Given the description of an element on the screen output the (x, y) to click on. 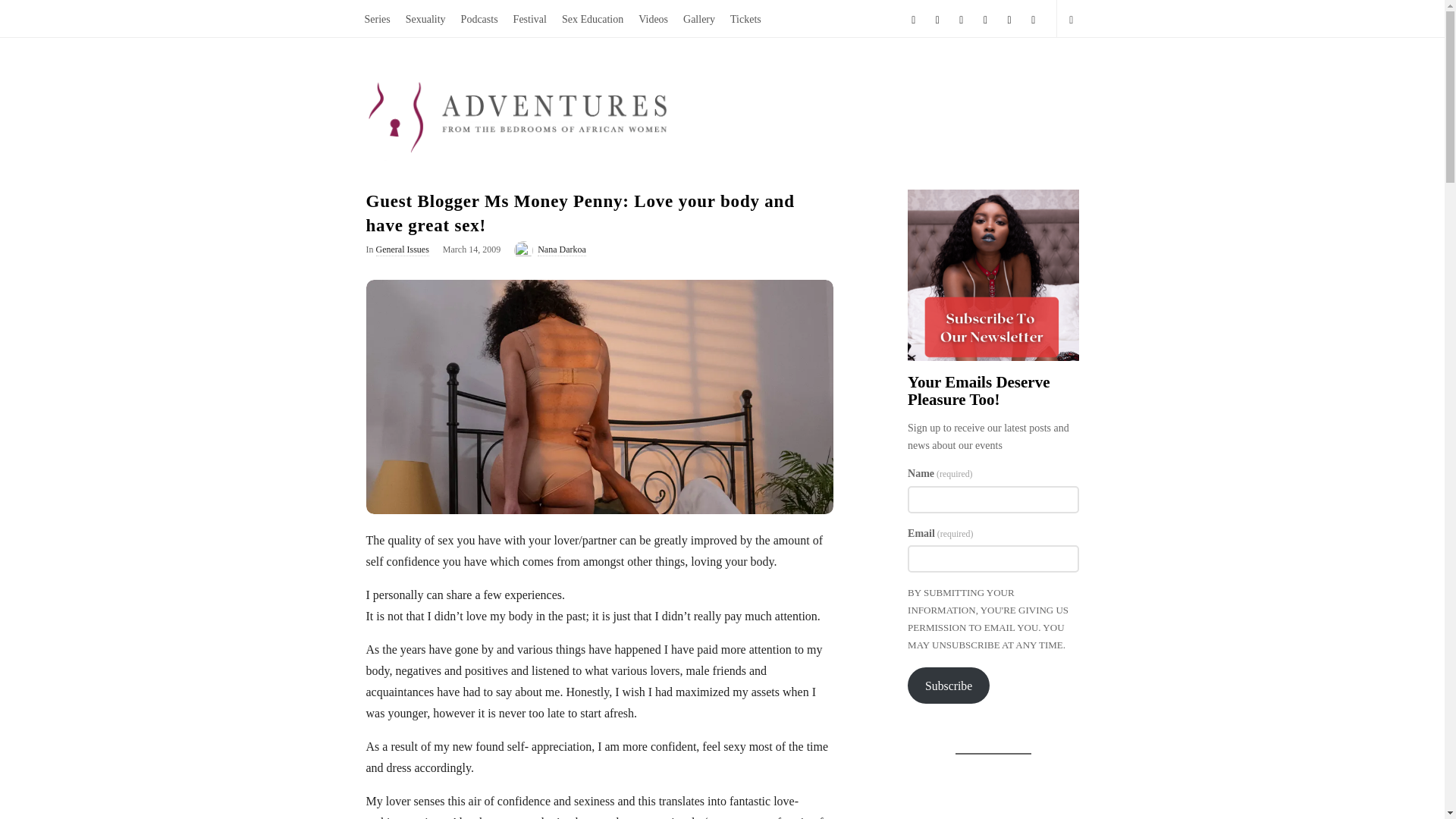
Tickets (745, 18)
Gallery (698, 18)
Festival (529, 18)
Podcasts (478, 18)
Sex Education (592, 18)
Videos (652, 18)
Series (376, 18)
Sexuality (424, 18)
